Given the description of an element on the screen output the (x, y) to click on. 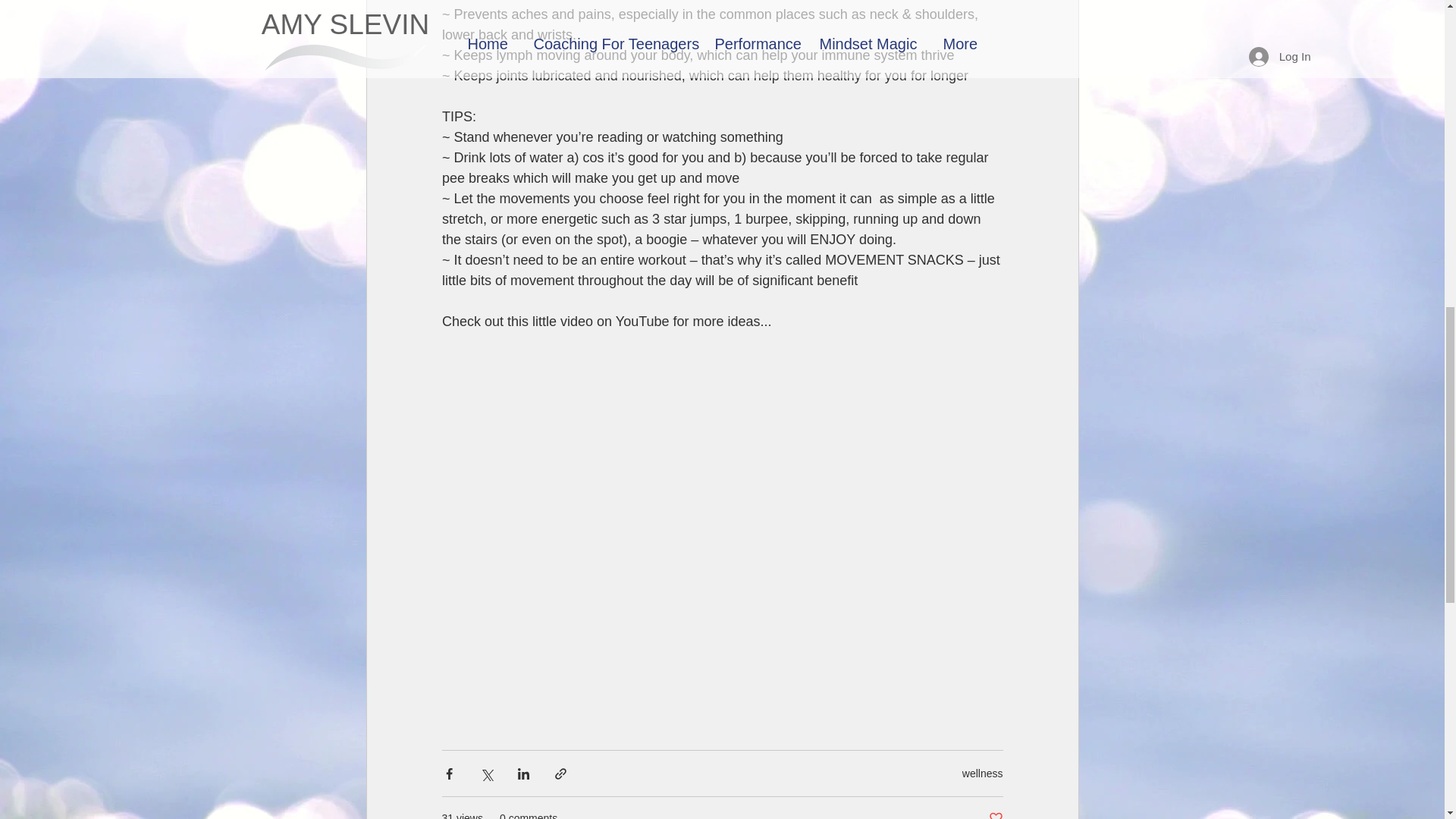
Post not marked as liked (995, 814)
wellness (982, 773)
